Given the description of an element on the screen output the (x, y) to click on. 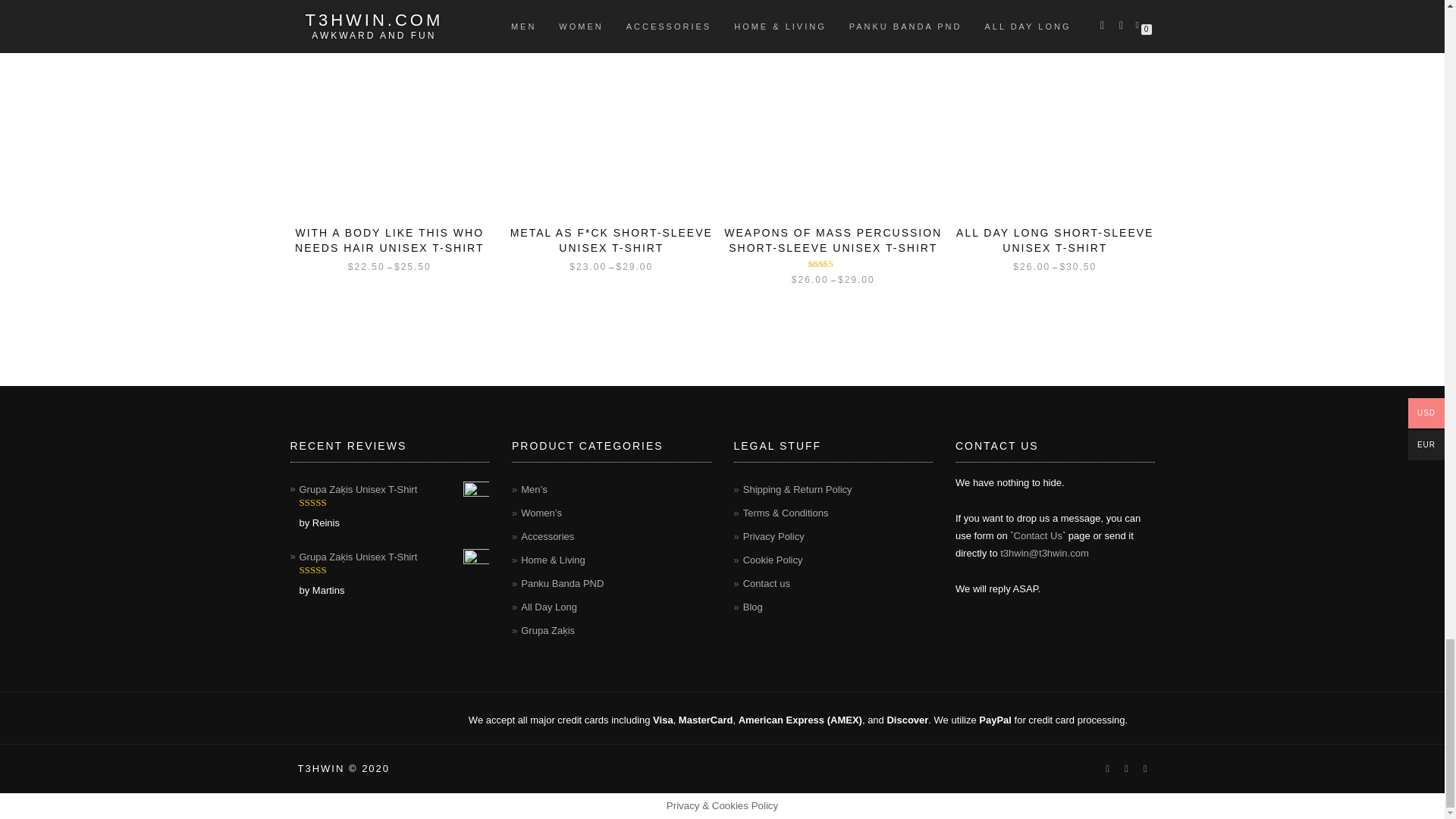
With A Body Like This Who Needs Hair Unisex Black T-Shirt (389, 106)
All Day Long Black Short-Sleeve Unisex T-Shirt (1054, 106)
Weapons Of Mass Percussion Short-Sleeve Unisex T-Shirt (832, 106)
